Given the description of an element on the screen output the (x, y) to click on. 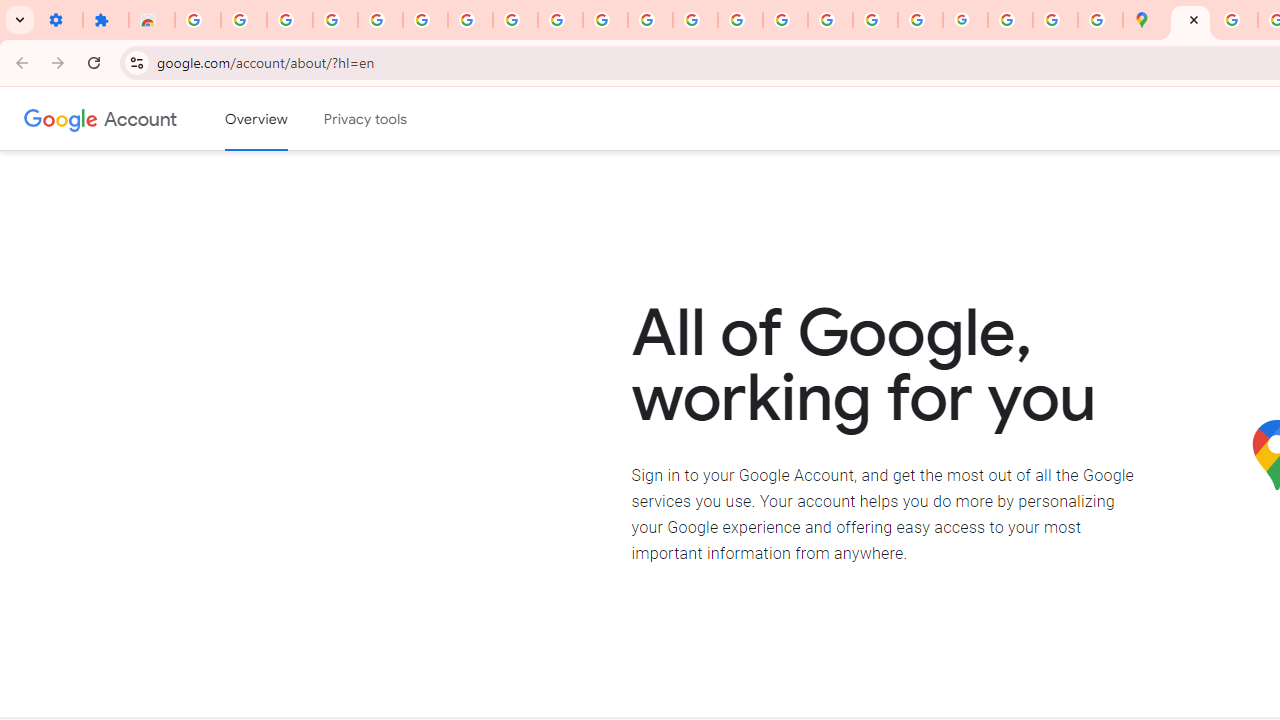
Google Account Help (470, 20)
Skip to Content (285, 115)
https://scholar.google.com/ (695, 20)
Delete photos & videos - Computer - Google Photos Help (244, 20)
Learn how to find your photos - Google Photos Help (290, 20)
YouTube (605, 20)
Google Account Help (425, 20)
